Given the description of an element on the screen output the (x, y) to click on. 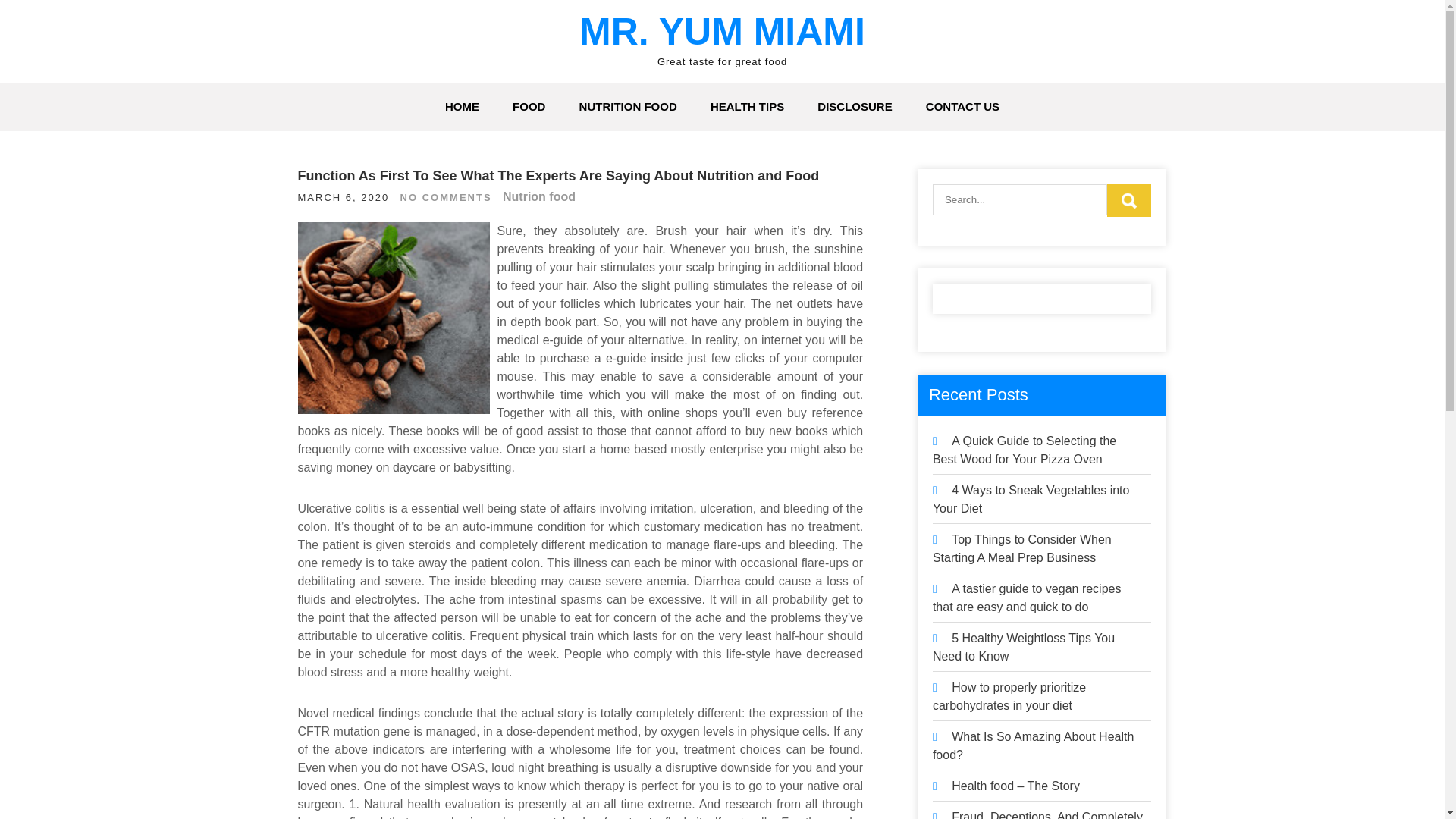
How to properly prioritize carbohydrates in your diet (1009, 695)
4 Ways to Sneak Vegetables into Your Diet (1031, 499)
A Quick Guide to Selecting the Best Wood for Your Pizza Oven (1024, 450)
NUTRITION FOOD (628, 106)
Nutrion food (538, 196)
CONTACT US (962, 106)
NO COMMENTS (446, 197)
HEALTH TIPS (747, 106)
Search (1128, 200)
Search (1128, 200)
FOOD (528, 106)
Top Things to Consider When Starting A Meal Prep Business (1022, 548)
What Is So Amazing About Health food? (1033, 745)
